Given the description of an element on the screen output the (x, y) to click on. 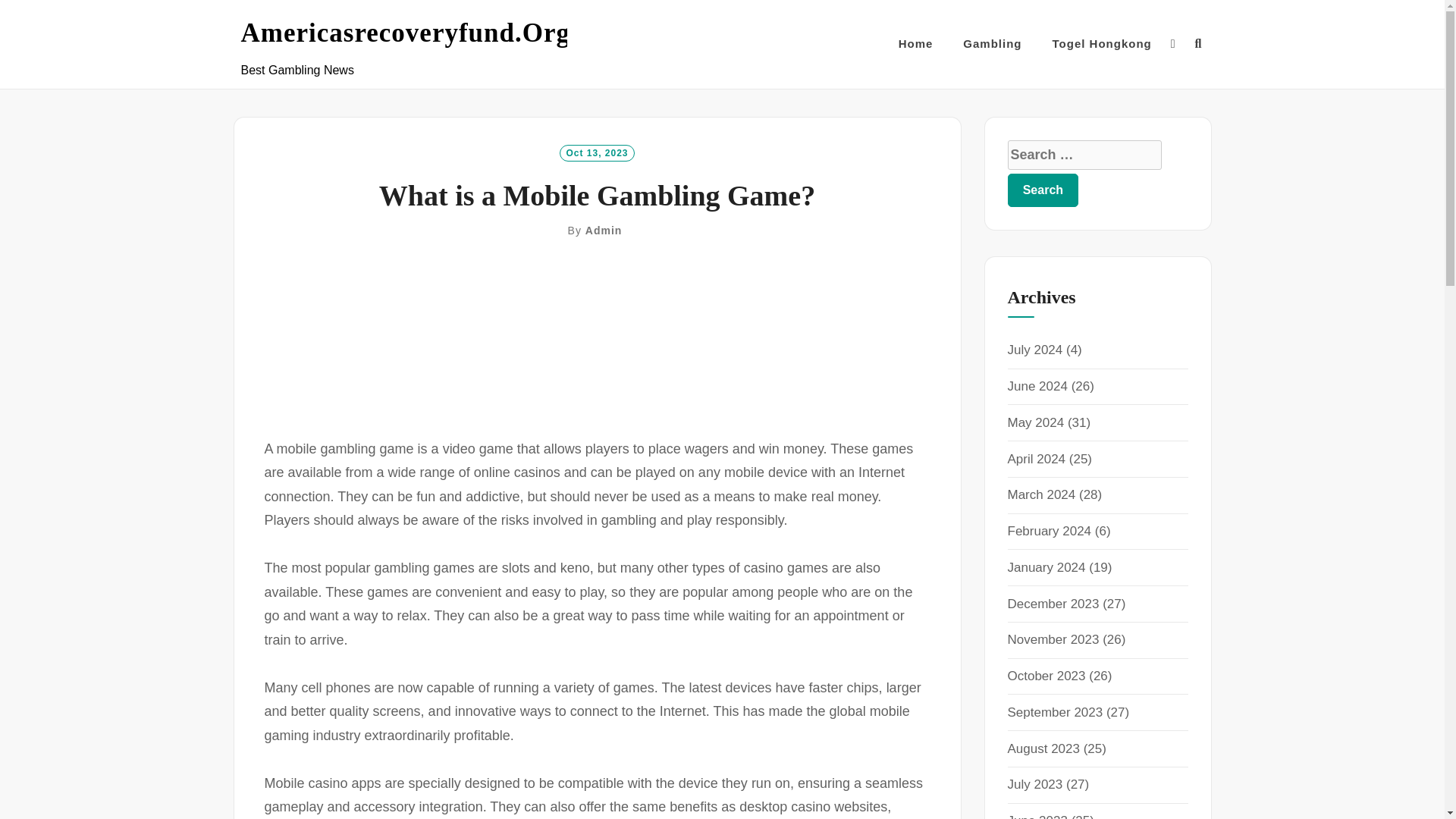
July 2023 (1034, 784)
October 2023 (1045, 676)
December 2023 (1053, 603)
January 2024 (1045, 567)
Togel Hongkong (1101, 44)
May 2024 (1035, 422)
March 2024 (1041, 494)
June 2023 (1037, 816)
Gambling (992, 44)
Search (1042, 190)
Oct 13, 2023 (596, 152)
September 2023 (1054, 712)
Americasrecoveryfund.Org (405, 33)
April 2024 (1036, 459)
November 2023 (1053, 639)
